Given the description of an element on the screen output the (x, y) to click on. 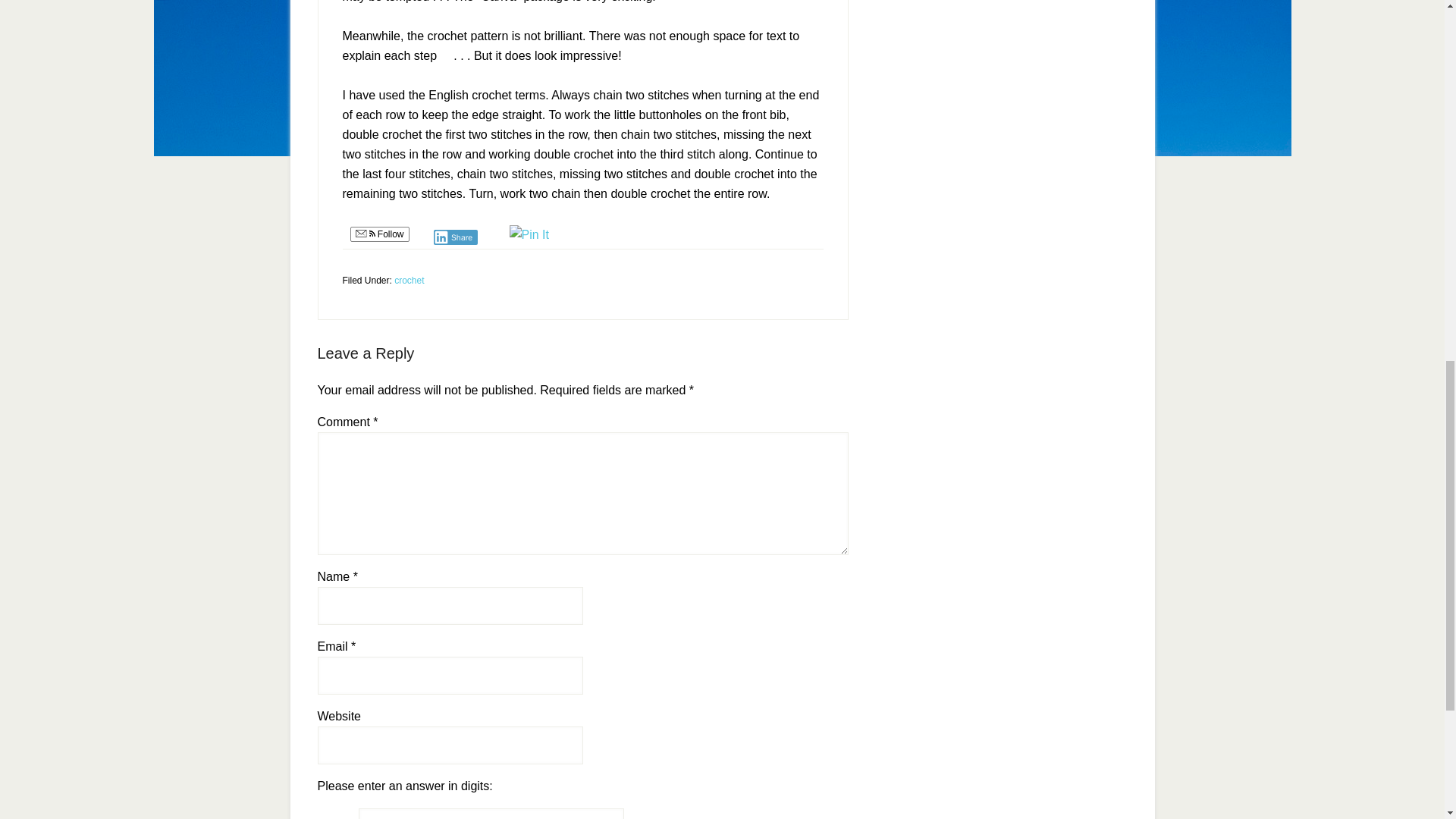
Follow (379, 233)
Email, RSS (364, 234)
Share (456, 237)
crochet (408, 280)
